Given the description of an element on the screen output the (x, y) to click on. 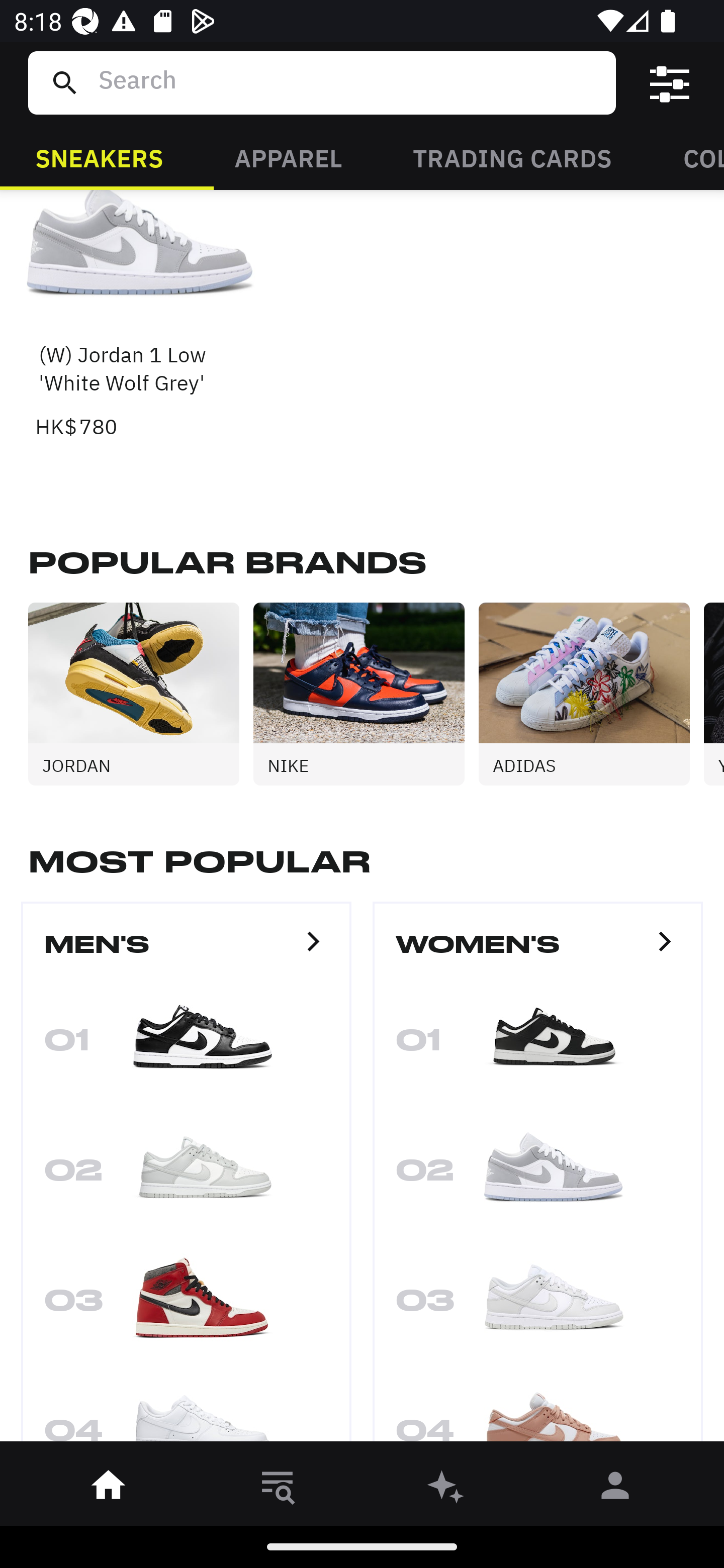
Search (349, 82)
 (669, 82)
SNEAKERS (99, 156)
APPAREL (287, 156)
TRADING CARDS (512, 156)
(W) Jordan 1 Low 'White Wolf Grey' HK$ 780 (140, 316)
JORDAN (140, 693)
NIKE (365, 693)
ADIDAS (590, 693)
MEN'S  (186, 953)
WOMEN'S  (538, 953)
01 (186, 1046)
01 (538, 1046)
02 (186, 1176)
02 (538, 1176)
03 (186, 1306)
03 (538, 1306)
󰋜 (108, 1488)
󱎸 (277, 1488)
󰫢 (446, 1488)
󰀄 (615, 1488)
